Given the description of an element on the screen output the (x, y) to click on. 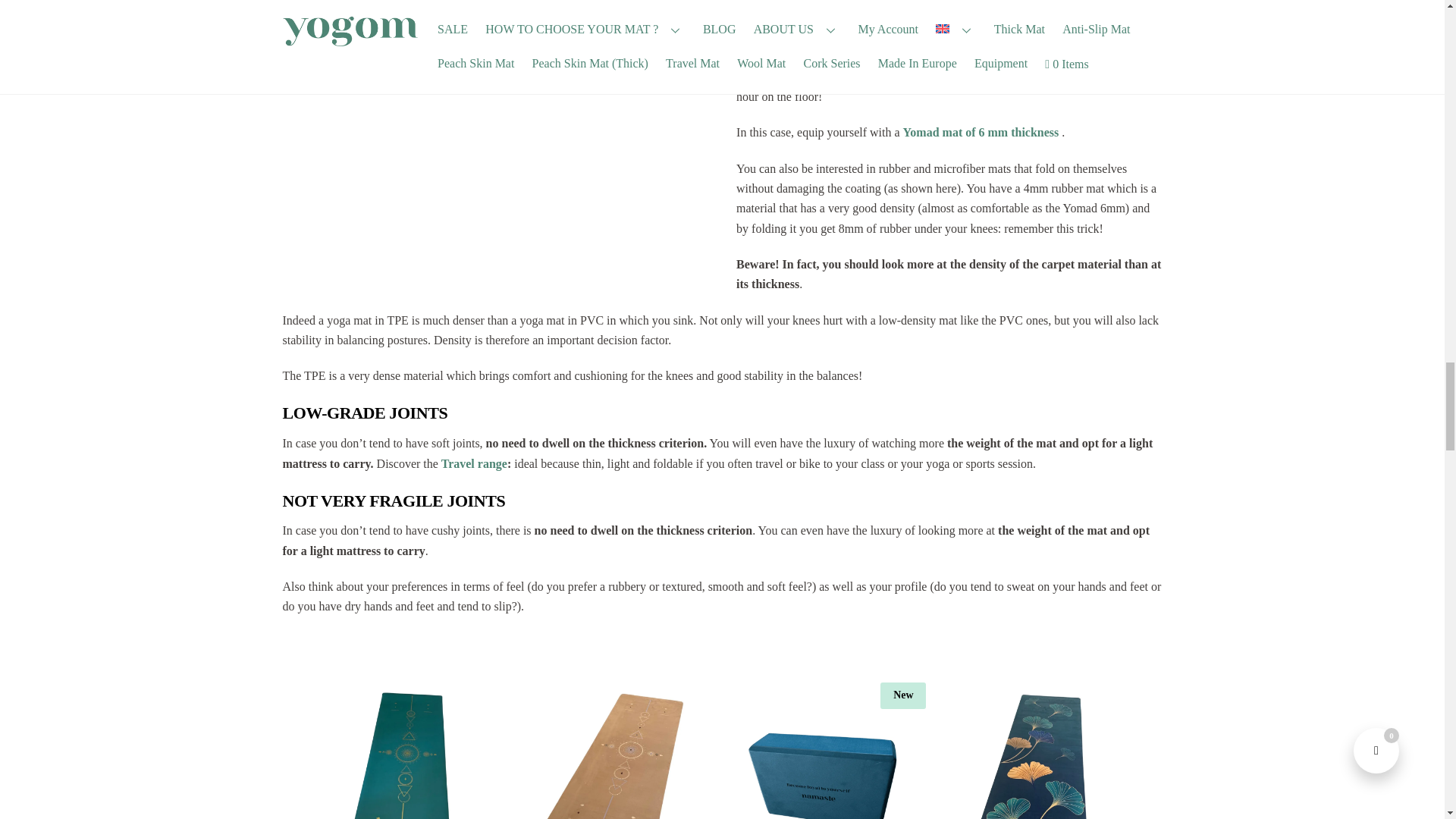
Yoga Mat Performance Samadhi honey Yogom (617, 754)
Tapis de yoga Performance Yogom Ginko (1036, 754)
Yoga mat Star Yogom samadhi duck gold (408, 754)
brique de yoga eva bleu marine yoga (826, 754)
